Given the description of an element on the screen output the (x, y) to click on. 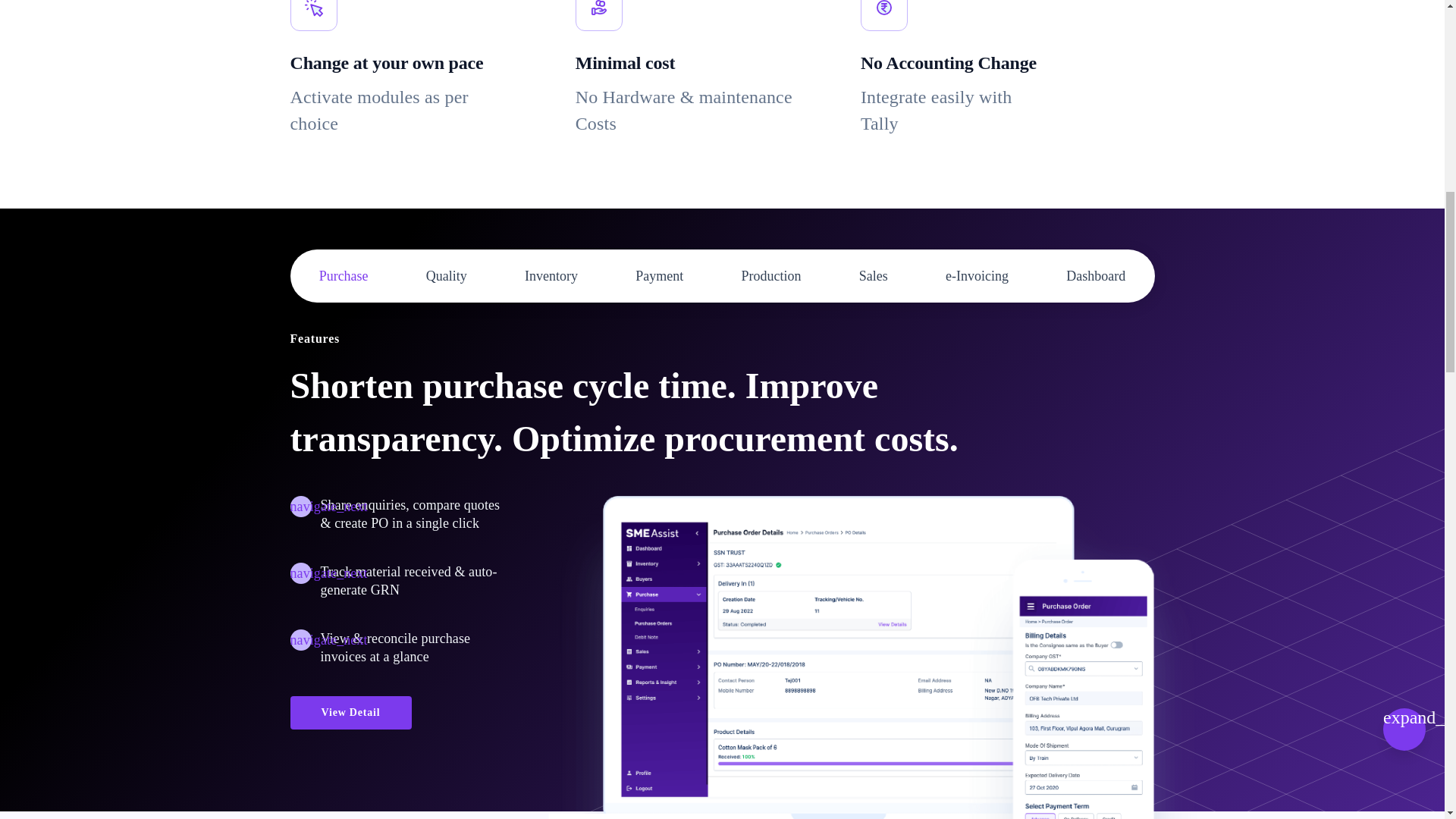
6 (873, 275)
5 (771, 275)
View Detail (349, 712)
8 (1095, 275)
4 (658, 275)
2 (446, 275)
3 (551, 275)
Features (314, 339)
1 (343, 275)
7 (976, 275)
